Given the description of an element on the screen output the (x, y) to click on. 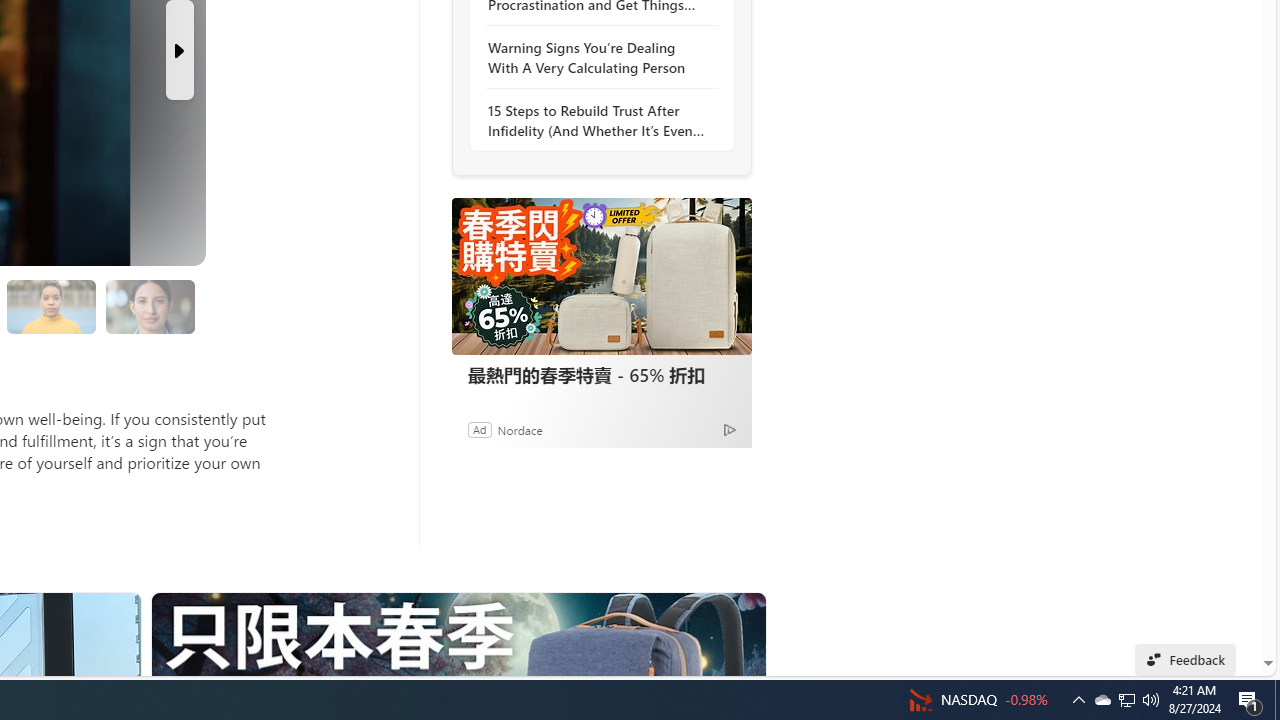
Class: progress (149, 303)
Next Slide (179, 50)
